Given the description of an element on the screen output the (x, y) to click on. 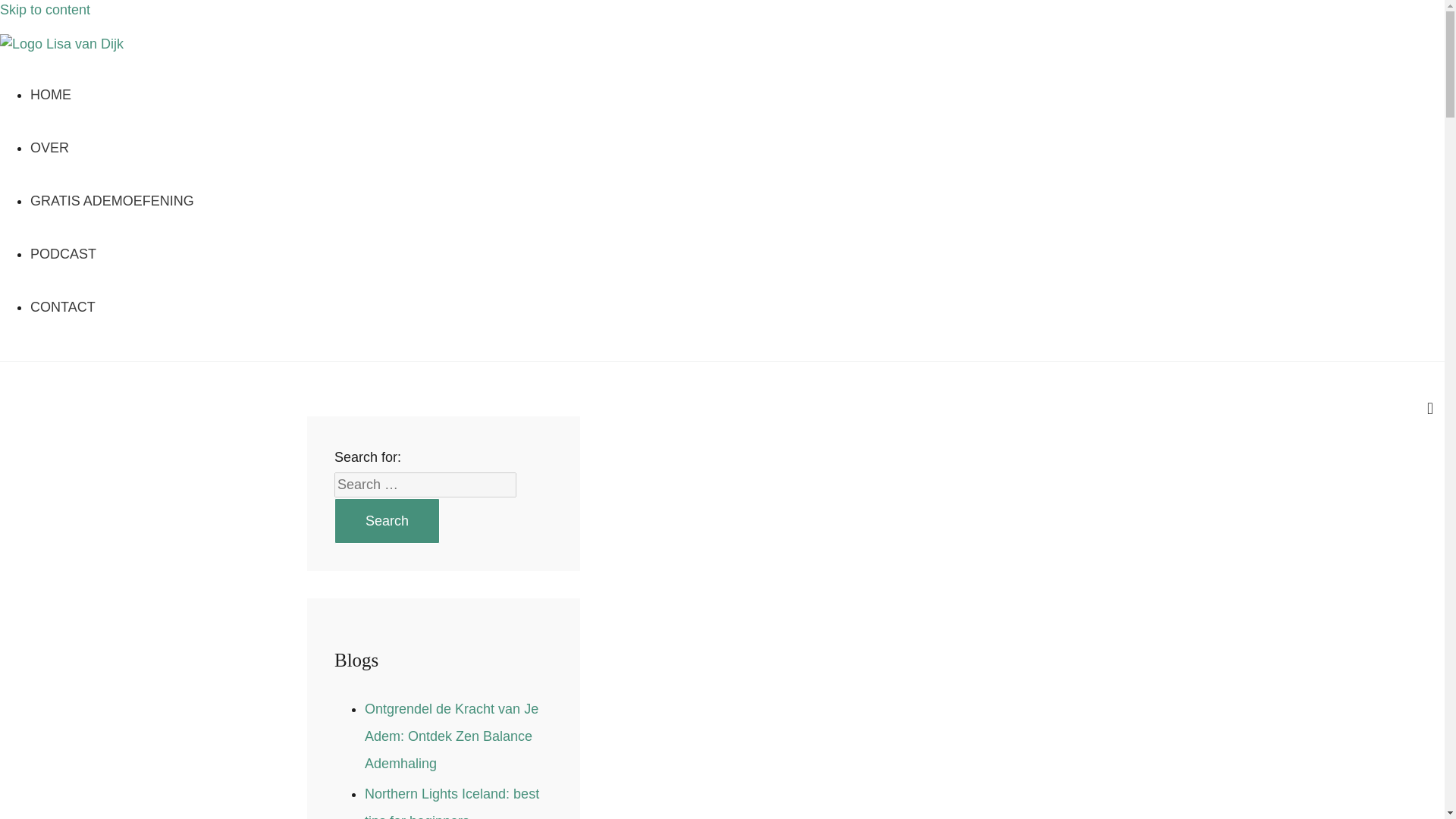
PODCAST (63, 253)
Northern Lights Iceland: best tips for beginners (451, 802)
HOME (50, 94)
Skip to content (45, 9)
Search (386, 520)
GRATIS ADEMOEFENING (111, 200)
CONTACT (63, 306)
OVER (49, 147)
Skip to content (45, 9)
Search (386, 520)
Search (386, 520)
